Given the description of an element on the screen output the (x, y) to click on. 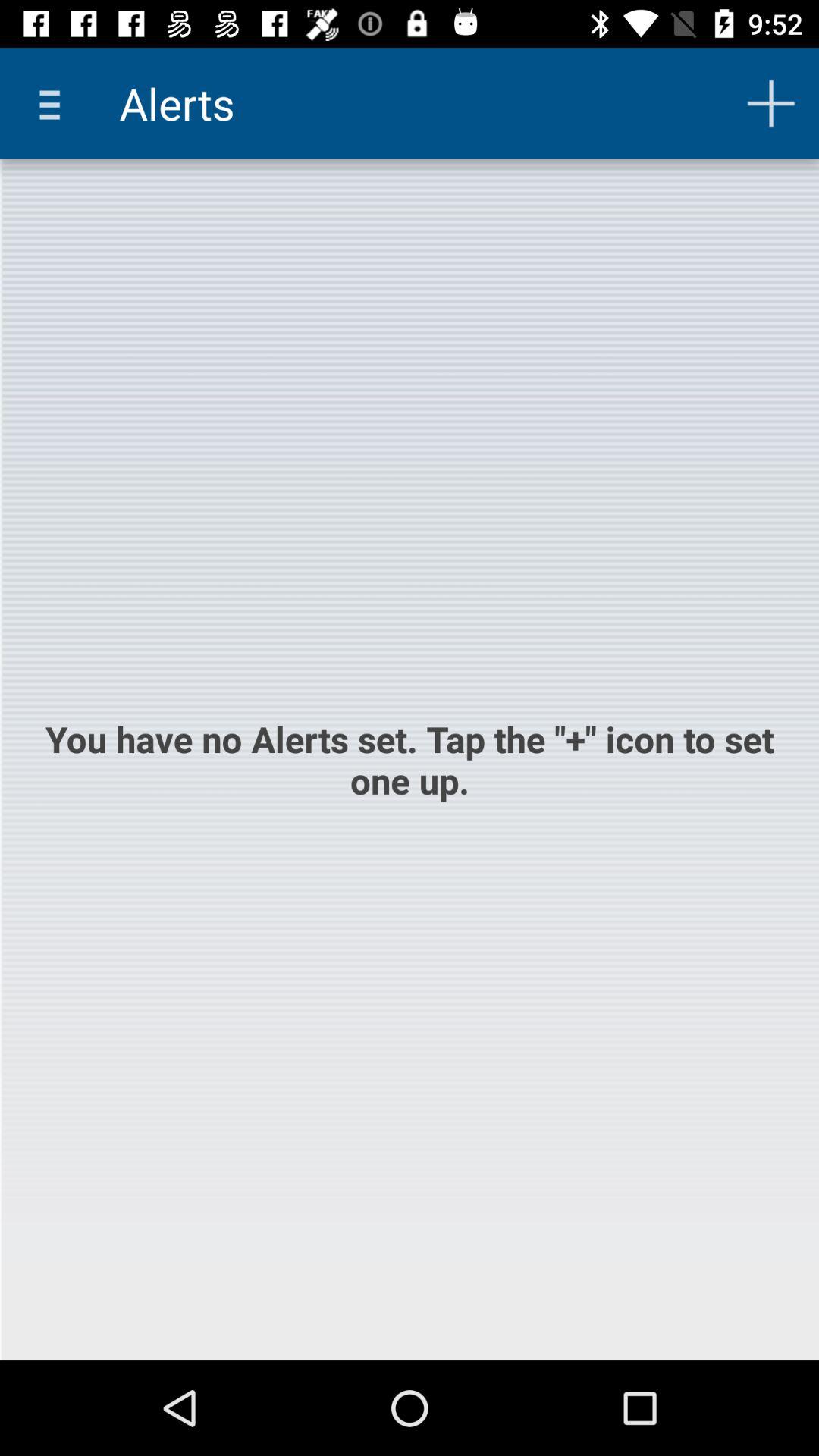
launch icon to the left of the alerts (55, 103)
